Given the description of an element on the screen output the (x, y) to click on. 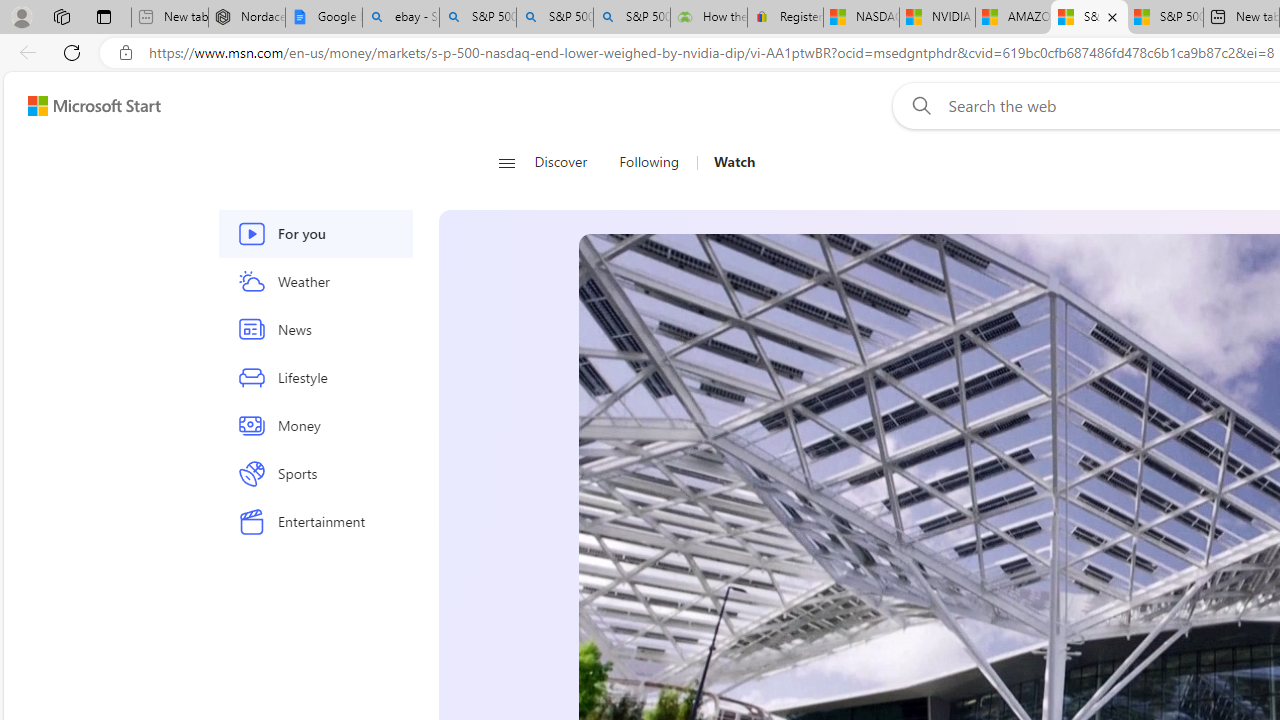
Skip to footer (82, 105)
